Given the description of an element on the screen output the (x, y) to click on. 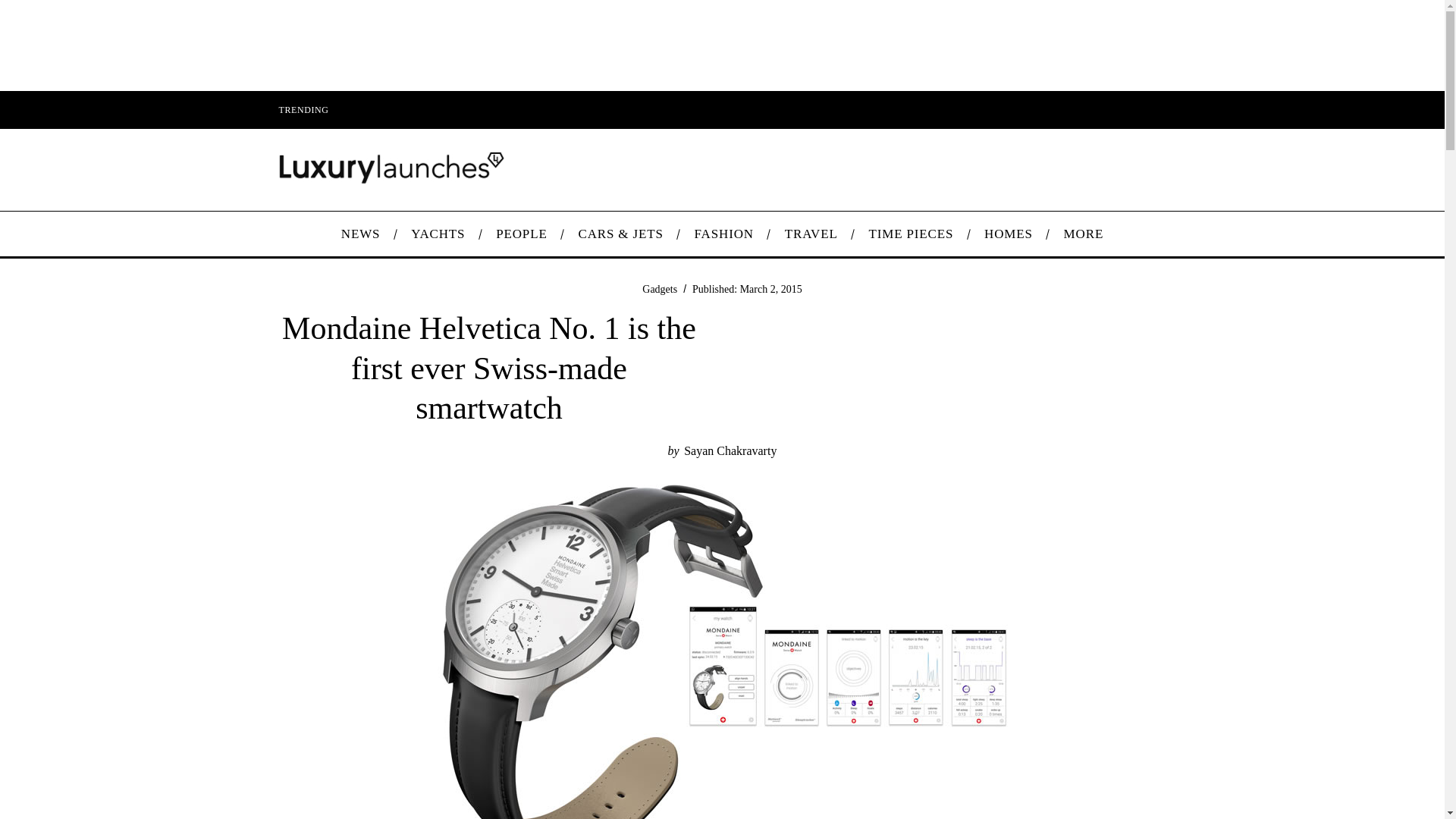
PEOPLE (521, 233)
MORE (1083, 233)
TIME PIECES (911, 233)
YACHTS (438, 233)
TRAVEL (810, 233)
Gadgets (659, 288)
HOMES (1008, 233)
Sayan Chakravarty (730, 450)
TRENDING (302, 109)
FASHION (723, 233)
